Given the description of an element on the screen output the (x, y) to click on. 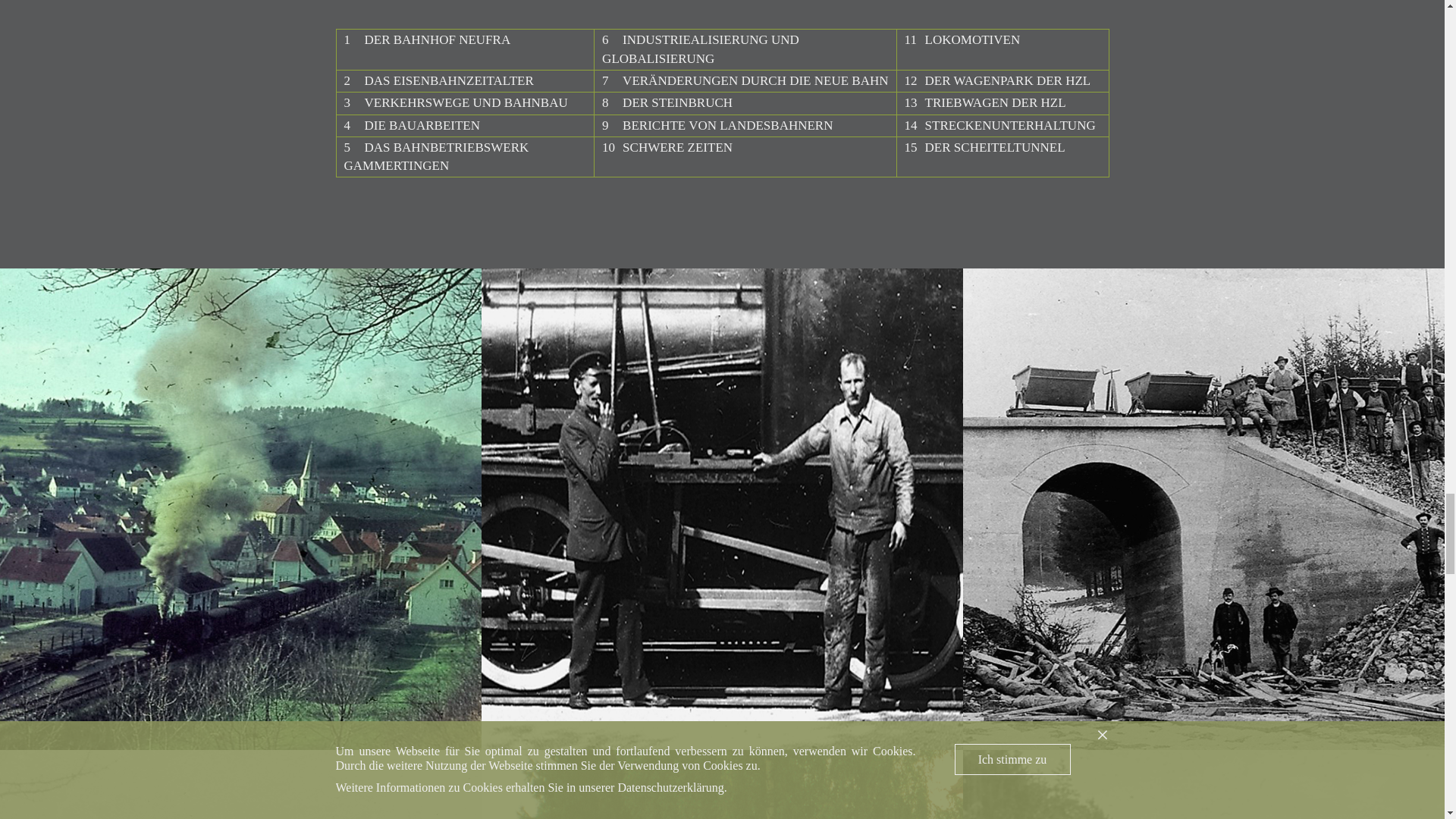
6INDUSTRIEALISIERUNG UND GLOBALISIERUNG (700, 48)
14STRECKENUNTERHALTUNG (1000, 124)
1DER BAHNHOF NEUFRA (427, 39)
8DER STEINBRUCH (667, 102)
11LOKOMOTIVEN (962, 39)
13TRIEBWAGEN DER HZL (984, 102)
2DAS EISENBAHNZEITALTER (438, 80)
3VERKEHRSWEGE UND BAHNBAU (455, 102)
4DIE BAUARBEITEN (411, 124)
10SCHWERE ZEITEN (667, 147)
5DAS BAHNBETRIEBSWERK GAMMERTINGEN (436, 156)
12DER WAGENPARK DER HZL (997, 80)
9BERICHTE VON LANDESBAHNERN (717, 124)
15DER SCHEITELTUNNEL (984, 147)
